Given the description of an element on the screen output the (x, y) to click on. 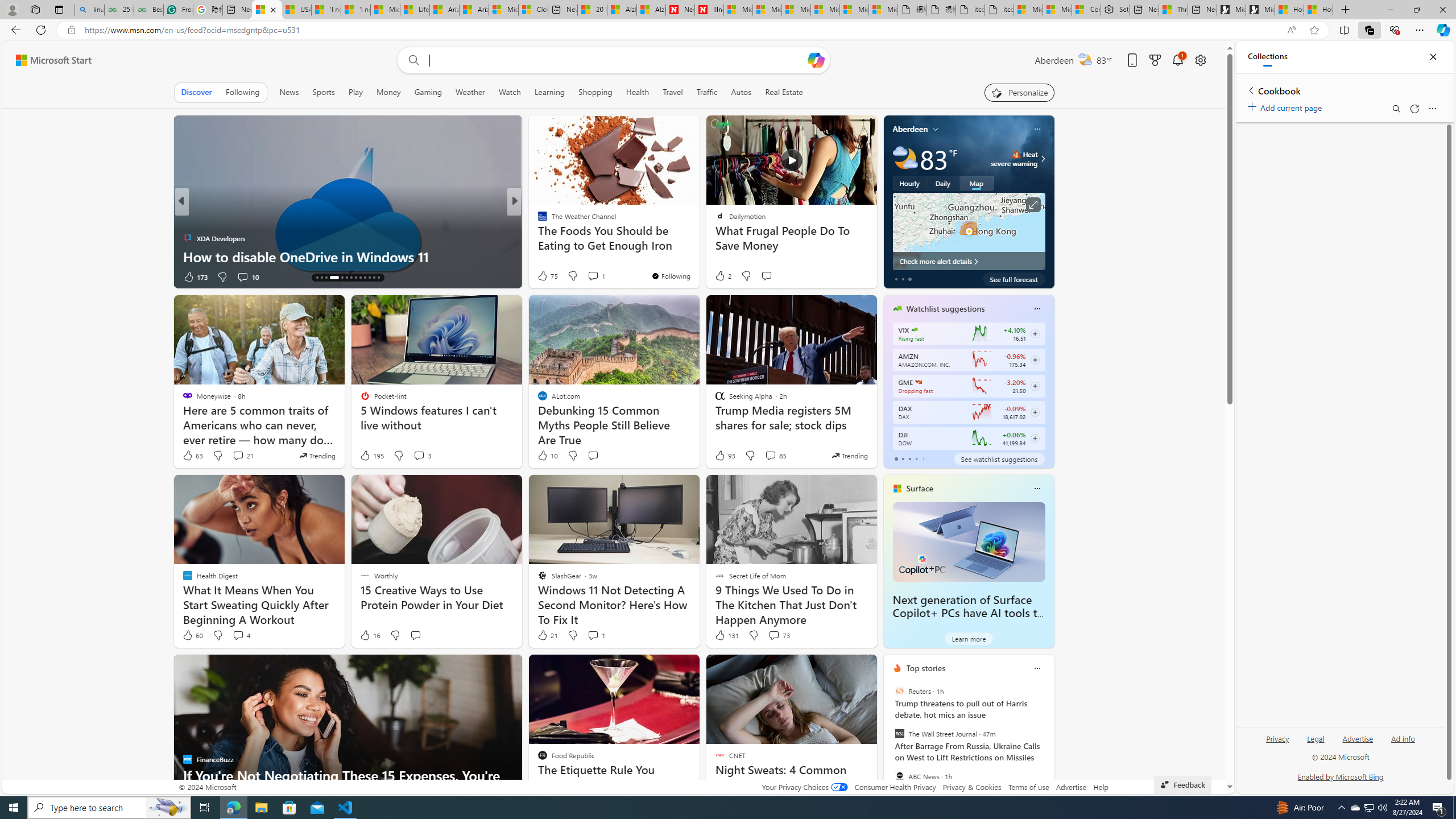
AutomationID: tab-17 (333, 277)
View comments 85 Comment (770, 455)
Surface (919, 488)
93 Like (724, 455)
Lovefood (537, 238)
Lifestyle - MSN (413, 9)
Map (975, 183)
173 Like (194, 276)
21 Like (546, 634)
Click to see more information (1033, 204)
AutomationID: tab-20 (350, 277)
Heat - Severe (1015, 153)
